Given the description of an element on the screen output the (x, y) to click on. 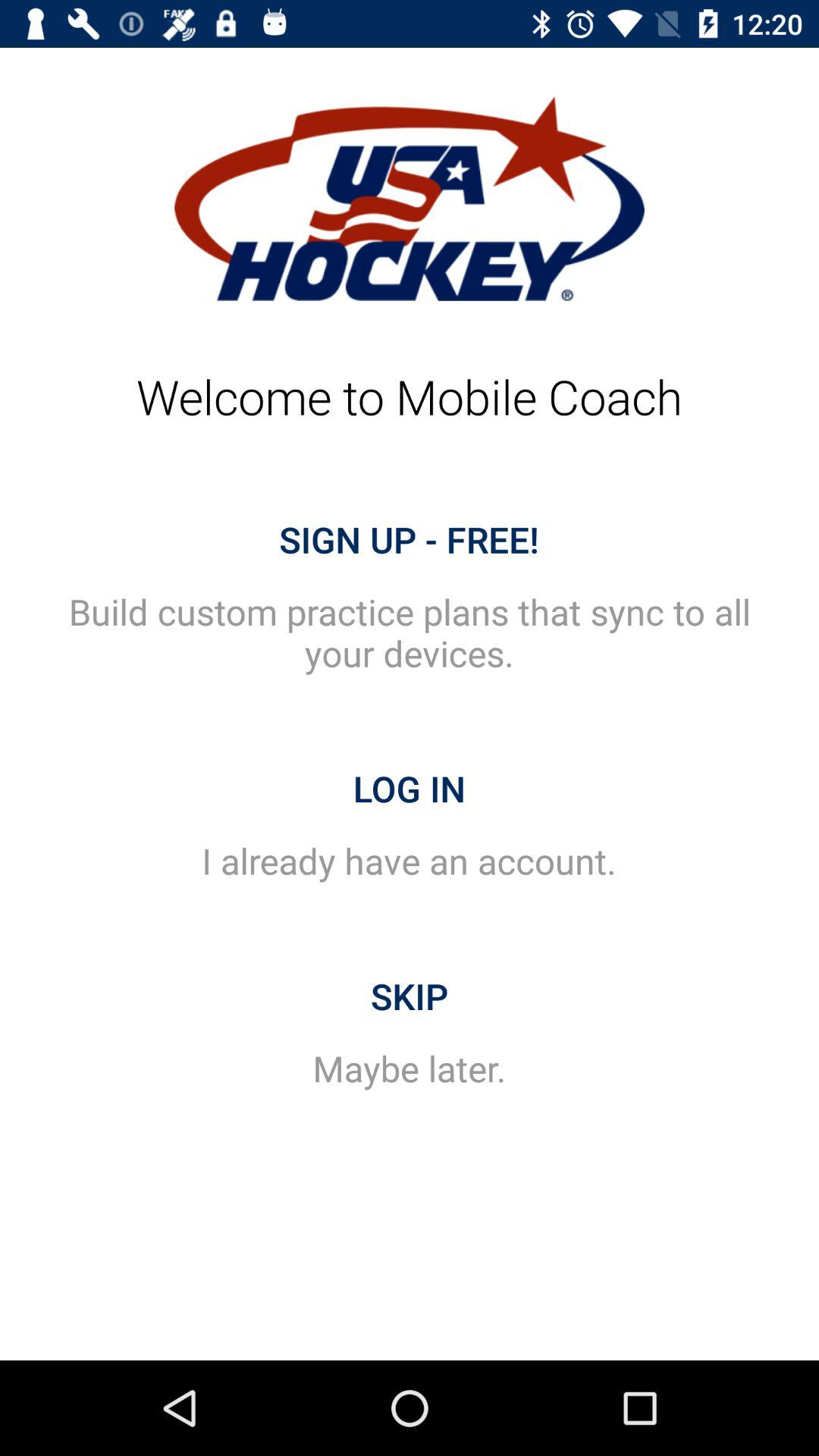
open the icon above i already have item (409, 788)
